Given the description of an element on the screen output the (x, y) to click on. 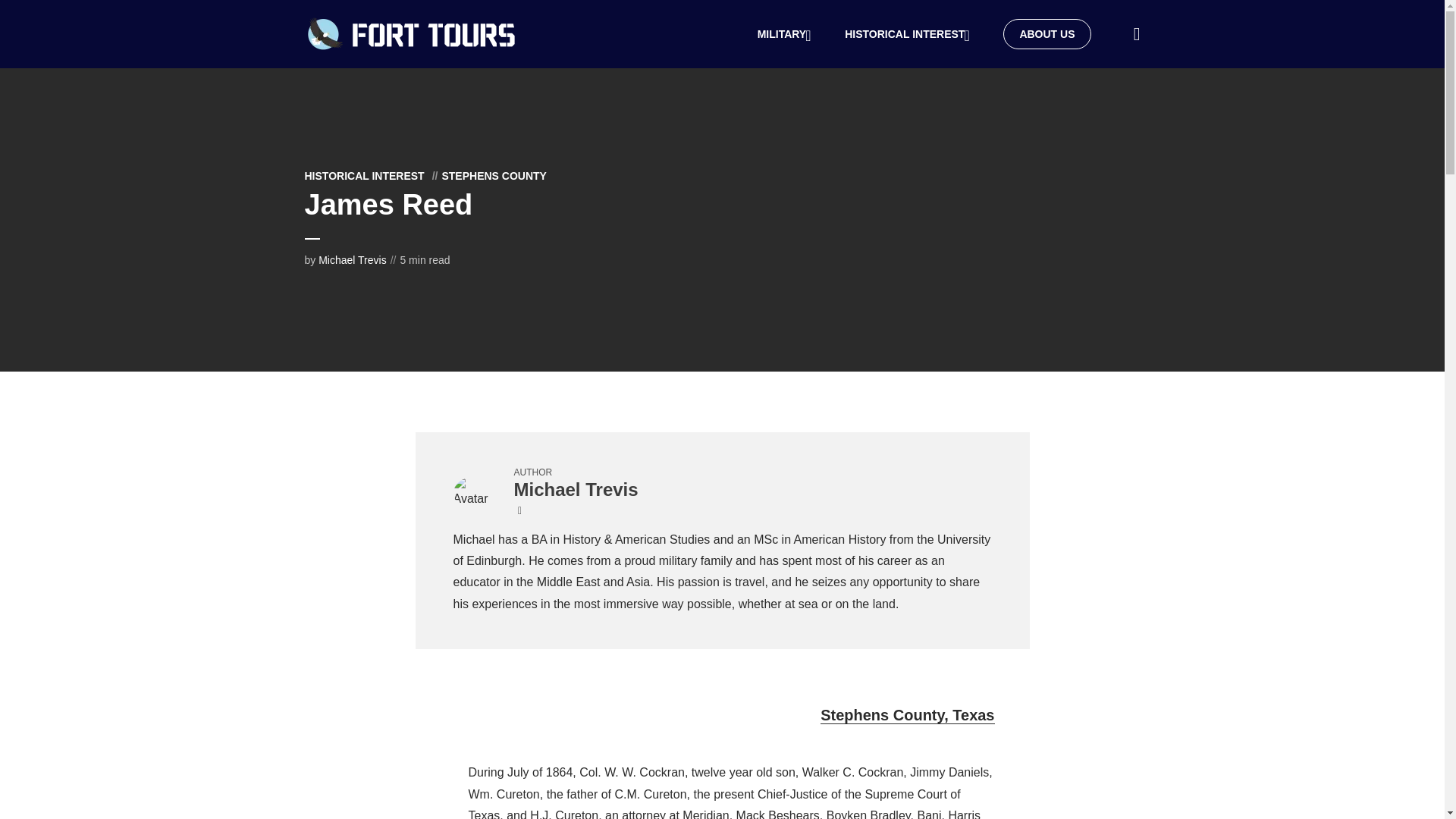
MILITARY (786, 34)
HISTORICAL INTEREST (908, 34)
ABOUT US (1046, 33)
